Given the description of an element on the screen output the (x, y) to click on. 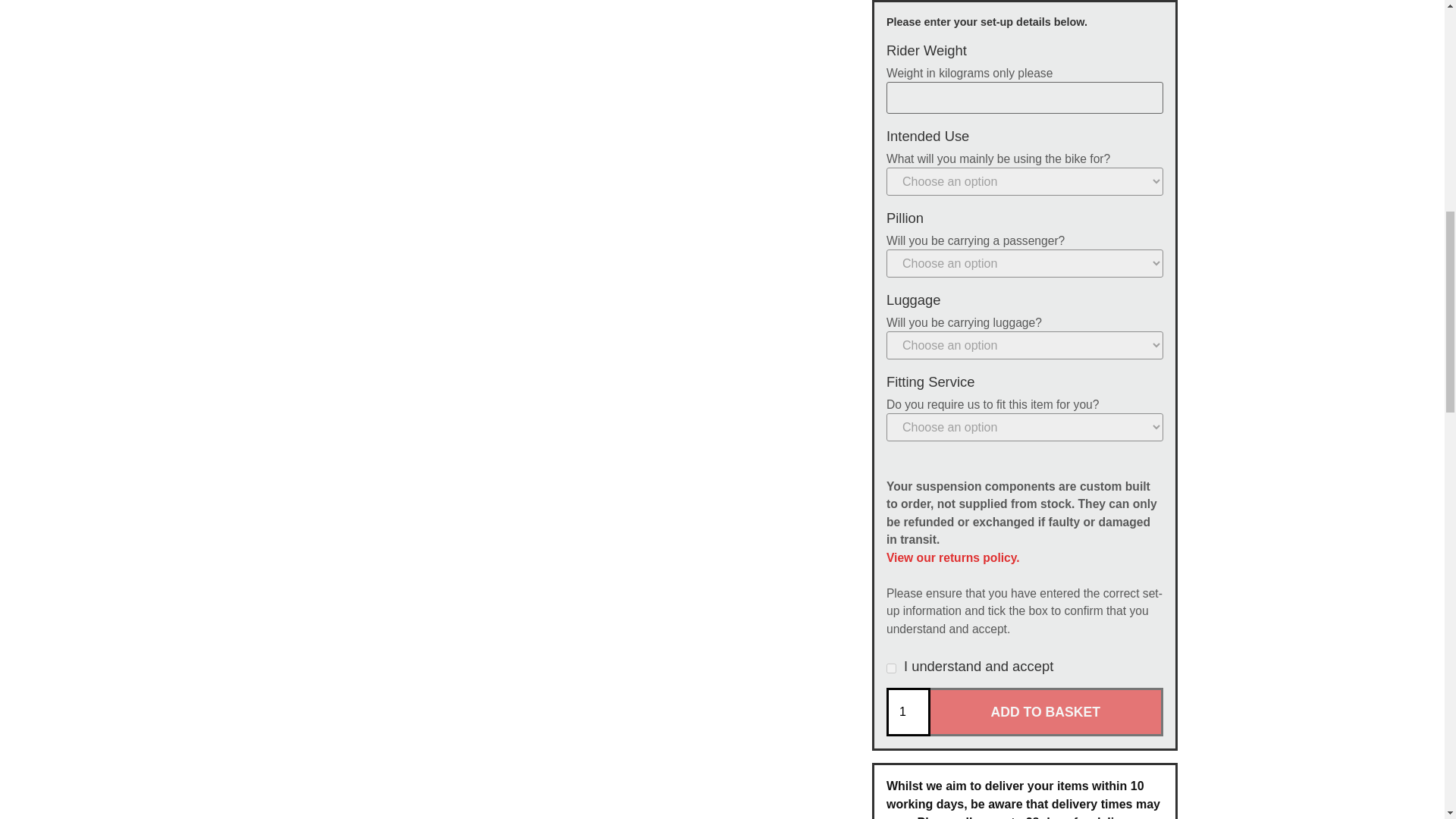
1 (908, 711)
lfyt8 (891, 668)
View our returns policy. (953, 557)
ADD TO BASKET (1045, 711)
